Given the description of an element on the screen output the (x, y) to click on. 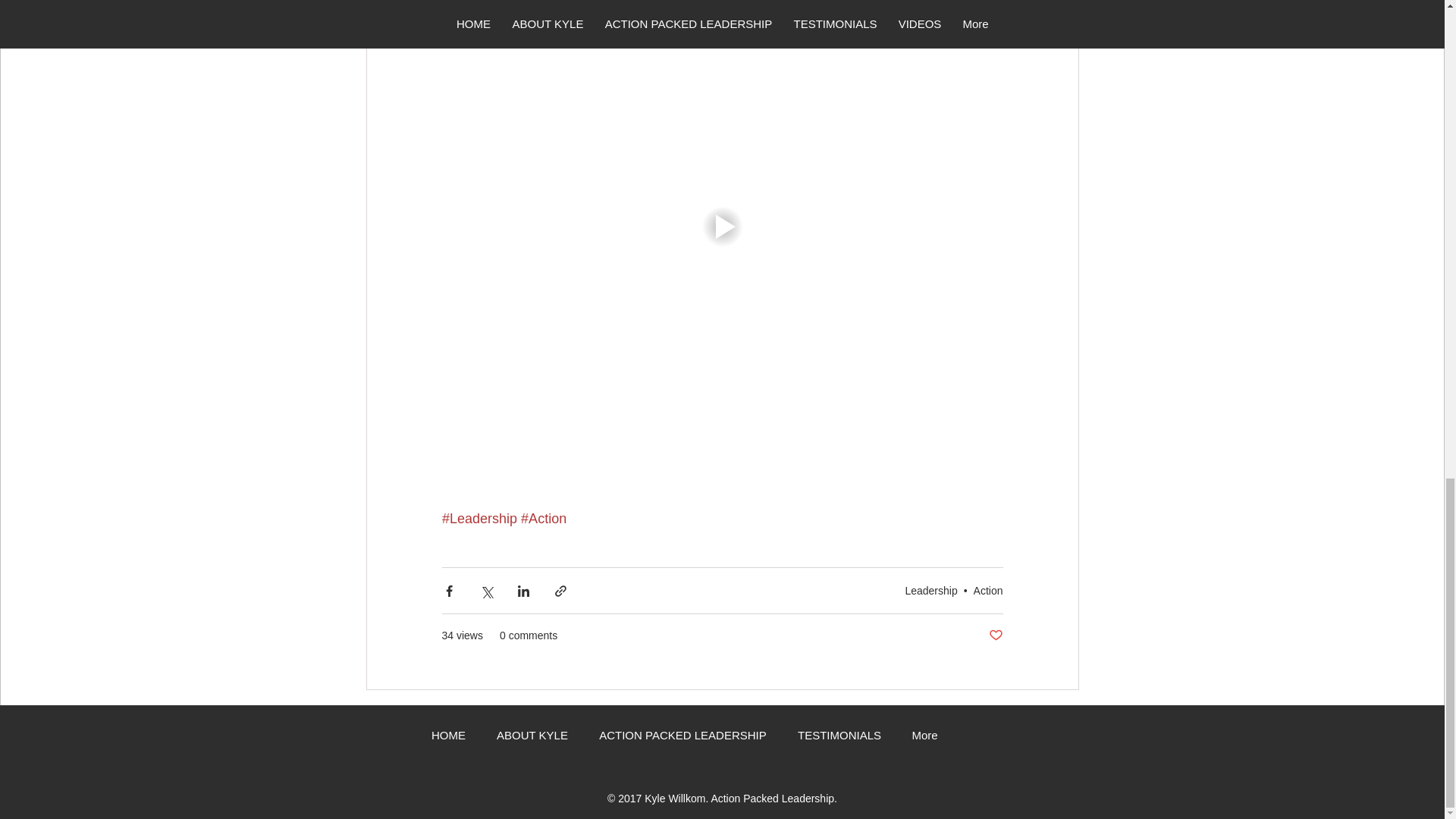
Leadership (930, 590)
ABOUT KYLE (531, 735)
TESTIMONIALS (839, 735)
ACTION PACKED LEADERSHIP (683, 735)
Action (988, 590)
HOME (447, 735)
Post not marked as liked (995, 635)
